Given the description of an element on the screen output the (x, y) to click on. 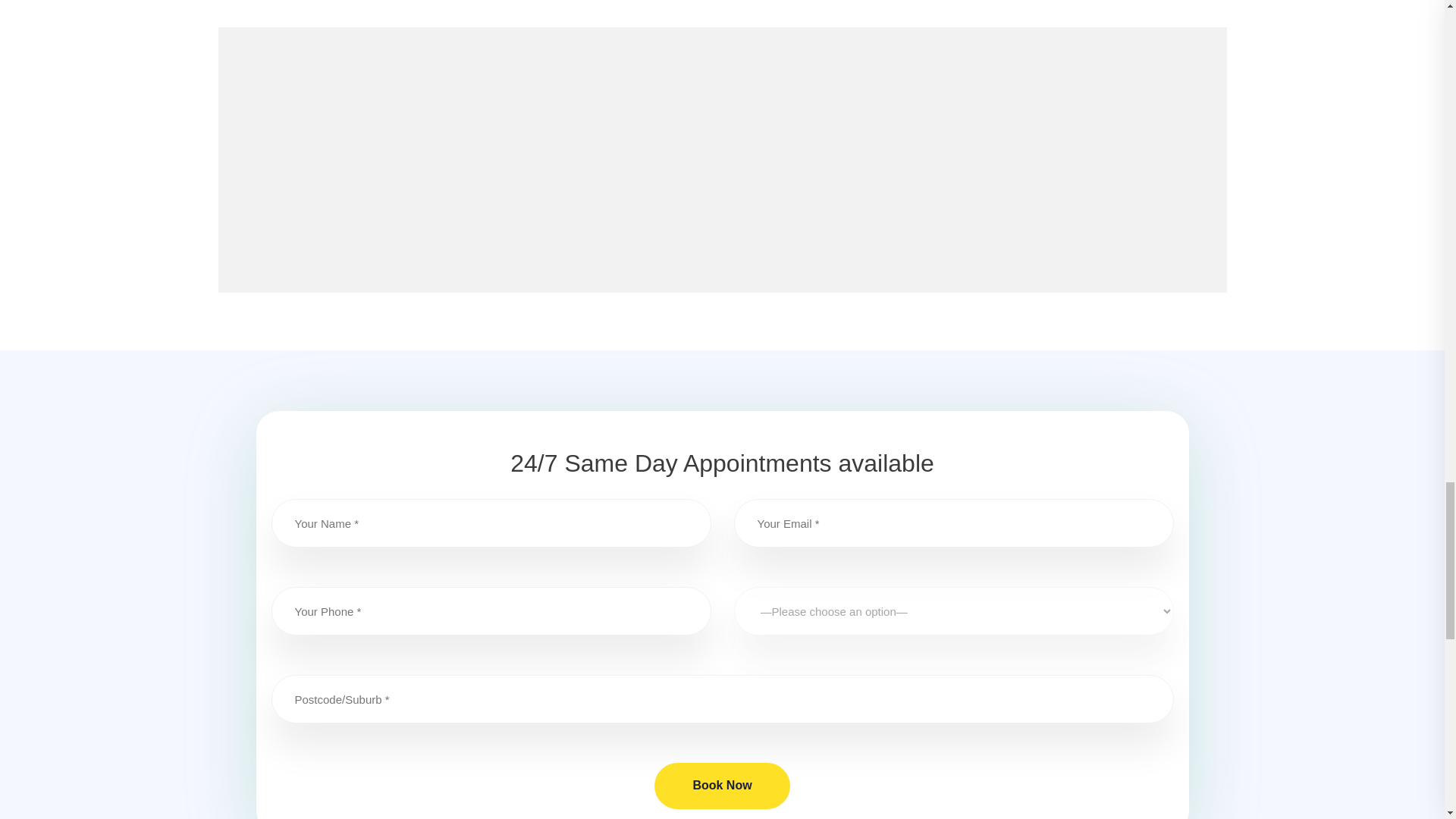
Book Now (721, 785)
